Given the description of an element on the screen output the (x, y) to click on. 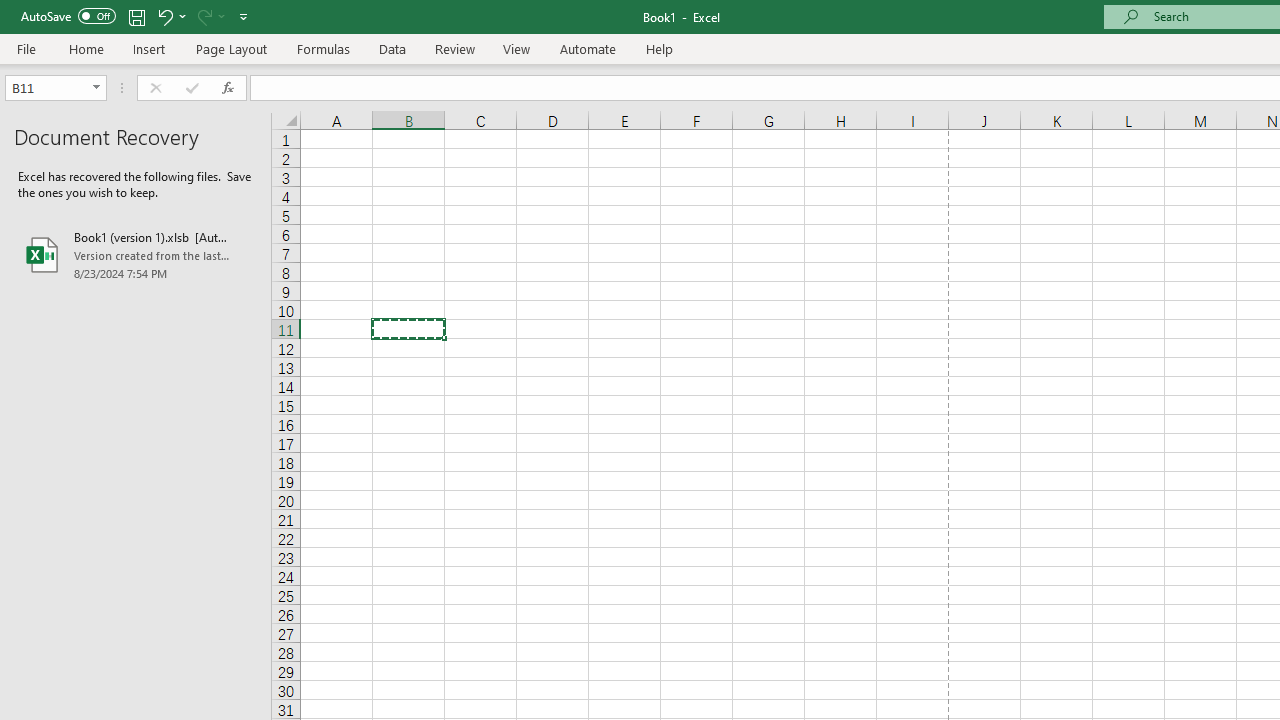
Automate (588, 48)
